Given the description of an element on the screen output the (x, y) to click on. 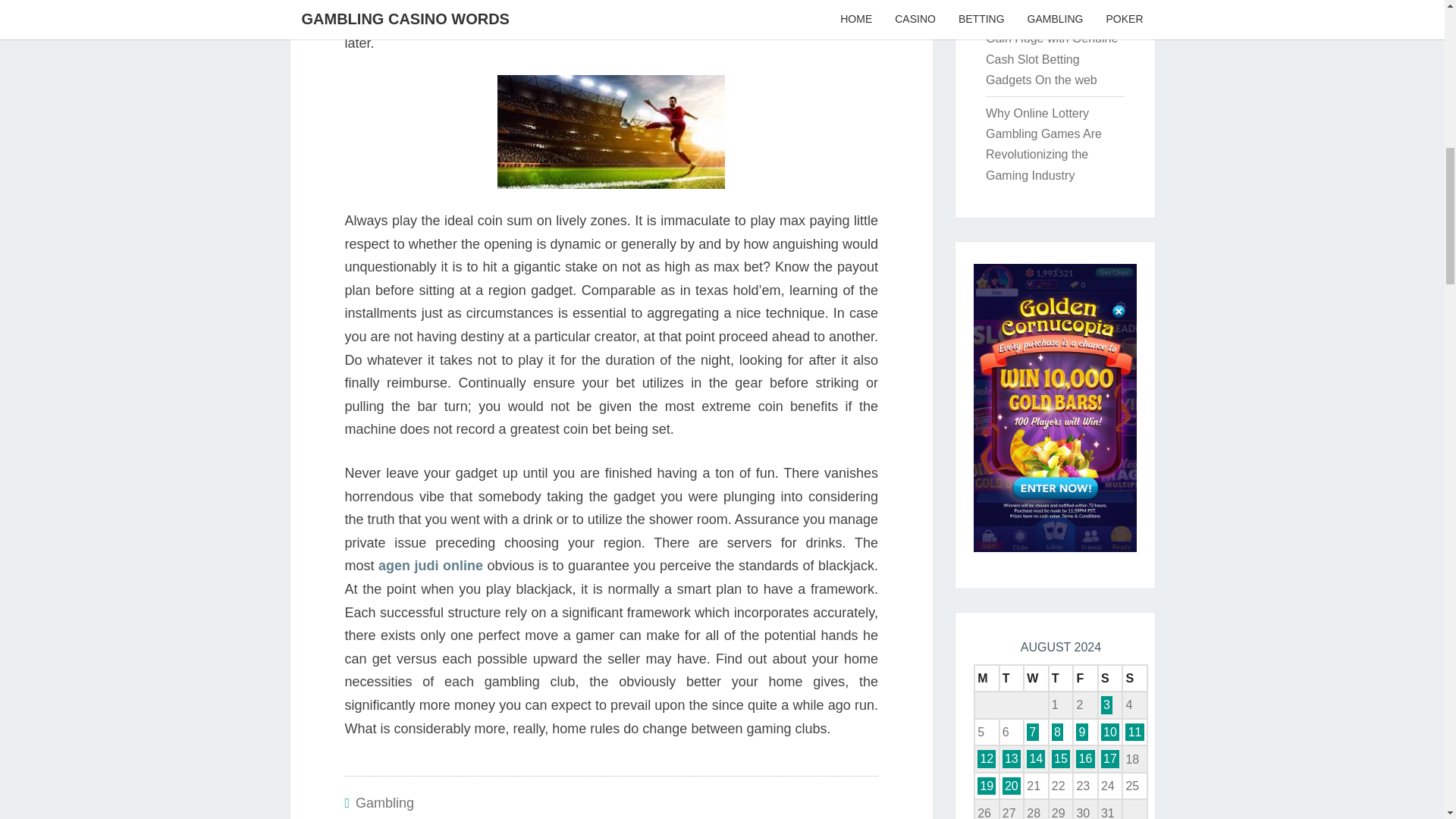
Friday (1085, 678)
Gain Huge with Genuine Cash Slot Betting Gadgets On the web (1051, 58)
Gambling (384, 802)
20 (1011, 785)
12 (985, 758)
16 (1084, 758)
Thursday (1061, 678)
14 (1035, 758)
Sunday (1134, 678)
